Given the description of an element on the screen output the (x, y) to click on. 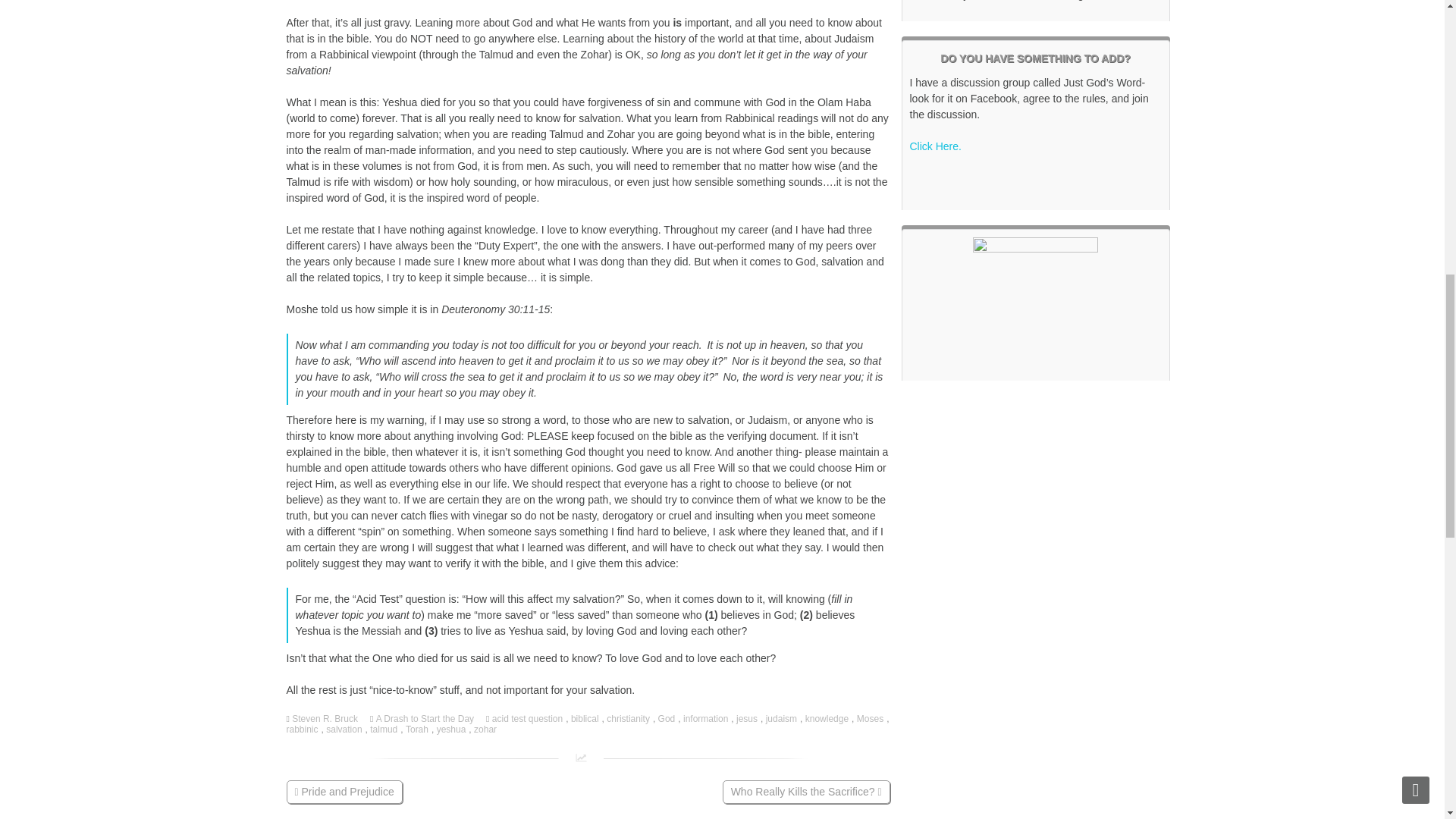
talmud (384, 728)
God (668, 718)
knowledge (828, 718)
judaism (782, 718)
acid test question (529, 718)
salvation (345, 728)
Torah (418, 728)
Steven R. Bruck (326, 718)
christianity (629, 718)
rabbinic (303, 728)
